Given the description of an element on the screen output the (x, y) to click on. 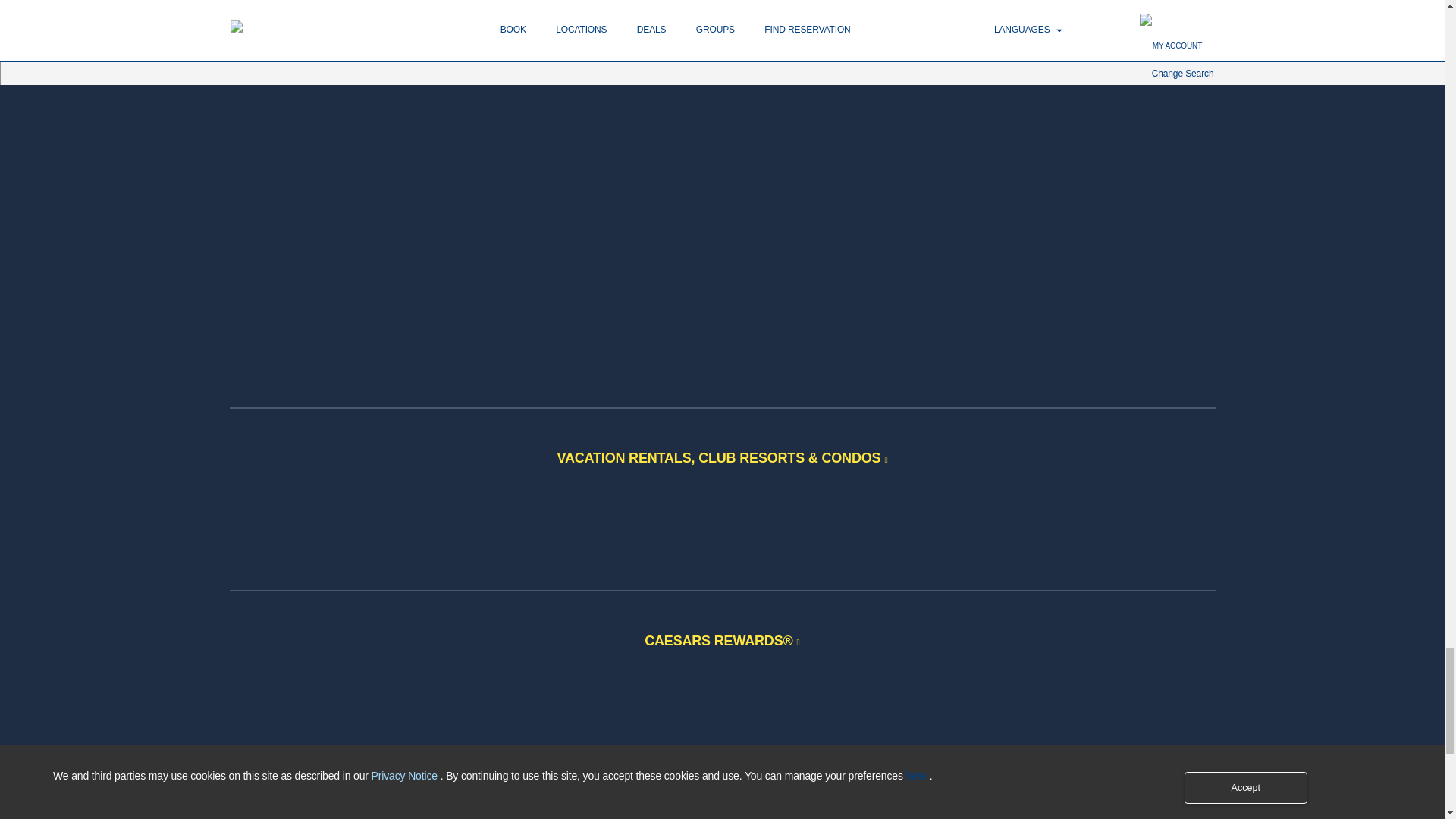
Esplendor by Wyndham (803, 52)
Wyndham Garden (640, 107)
Ramada Worldwide (640, 278)
Vienna House (803, 165)
Ramada Worldwide (640, 275)
Esplendor by Wyndham (803, 54)
Wingate by Wyndham (640, 52)
Dazzler Hotels (803, 110)
Wyndham Garden (640, 110)
Wyndham Alltra (803, 219)
La Quinta (640, 11)
Hawthorn Suites by Wyndham (311, 11)
Wingate by Wyndham (640, 54)
TRYP by Wyndham (803, 9)
Ramada Ecore (640, 333)
